Given the description of an element on the screen output the (x, y) to click on. 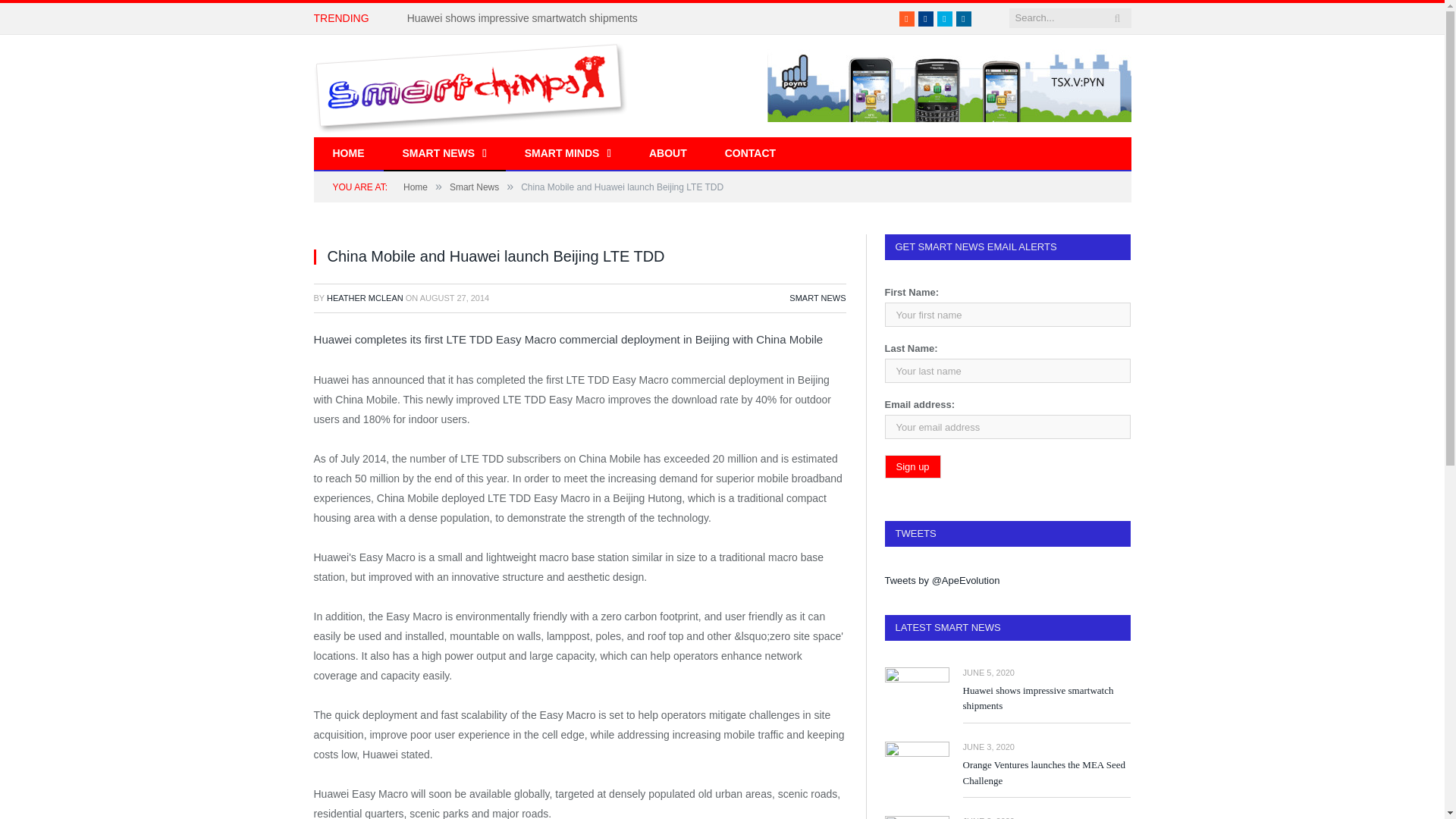
SMART NEWS (444, 154)
Huawei shows impressive smartwatch shipments (526, 18)
Huawei shows impressive smartwatch shipments (526, 18)
Facebook (925, 18)
Twitter (944, 18)
LinkedIn (963, 18)
LinkedIn (963, 18)
Facebook (925, 18)
Twitter (944, 18)
RSS (906, 18)
